Given the description of an element on the screen output the (x, y) to click on. 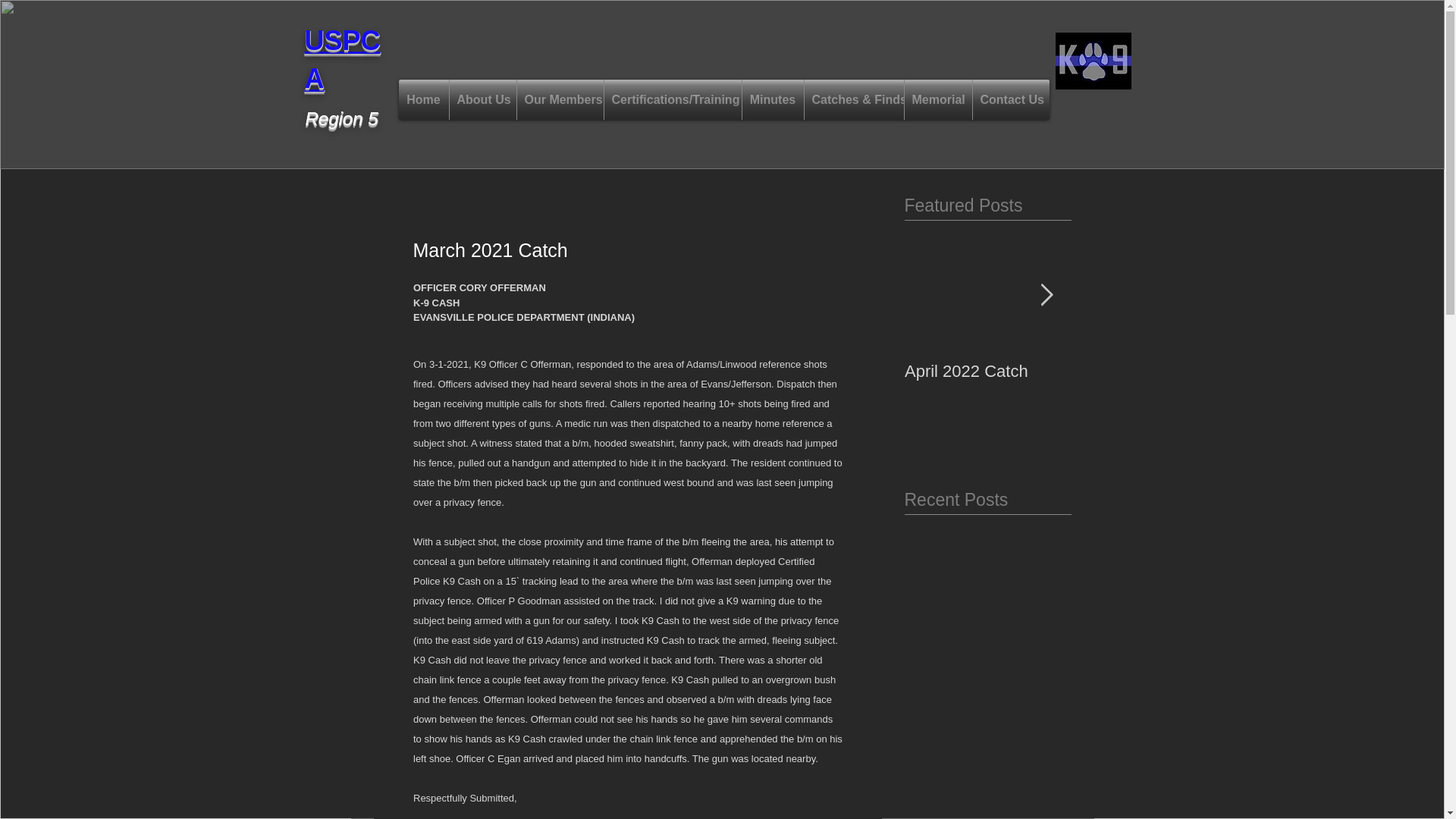
April 2022 Catch (987, 371)
USPCA (342, 59)
Minutes (772, 99)
April 2022 Find (1153, 371)
Home (423, 99)
About Us (481, 99)
Our Members (560, 99)
Memorial (937, 99)
Contact Us (1010, 99)
Region 5 (340, 118)
